Given the description of an element on the screen output the (x, y) to click on. 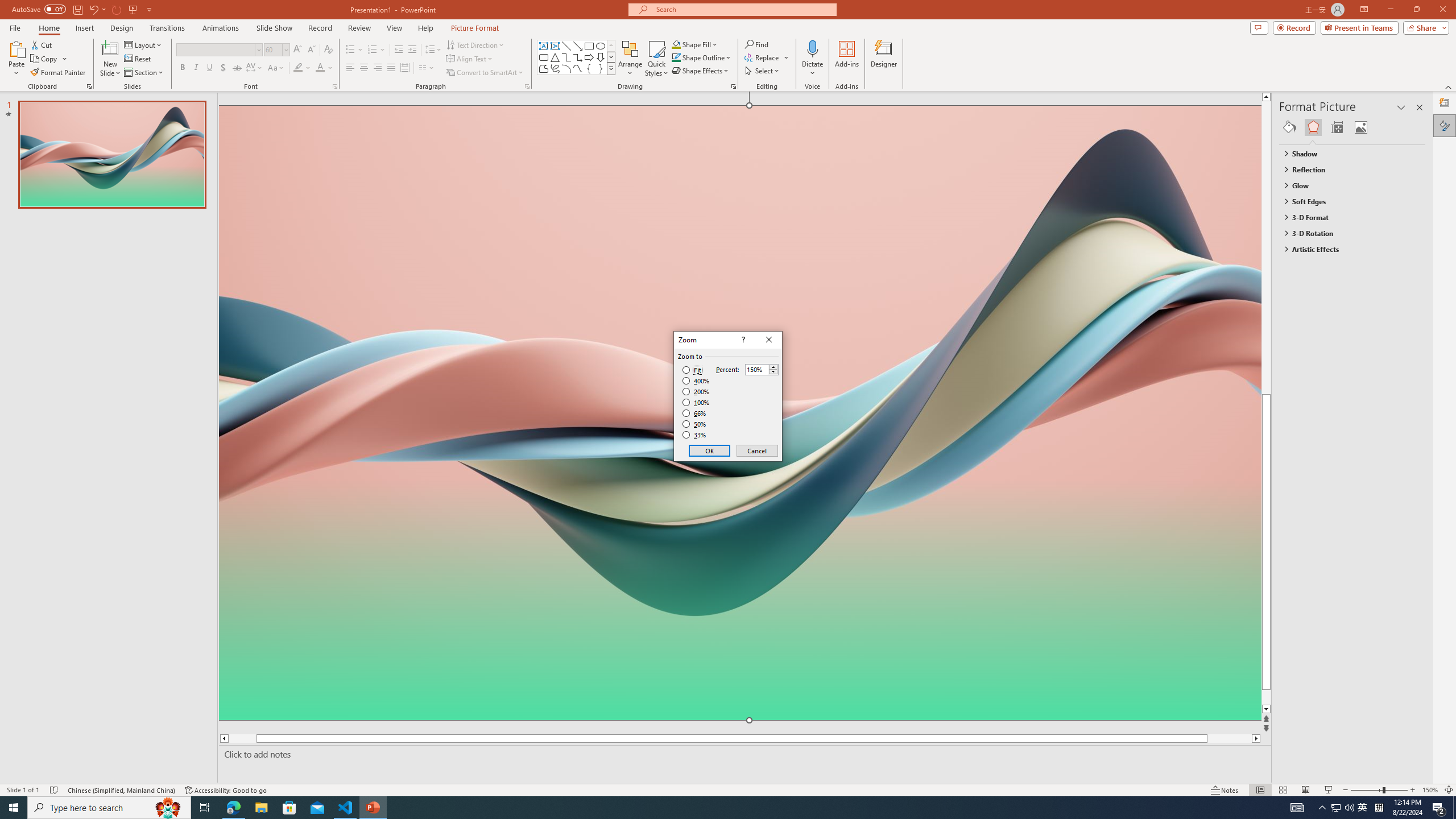
Fit (691, 370)
Artistic Effects (1347, 248)
Reflection (1347, 169)
Fill & Line (1288, 126)
